Given the description of an element on the screen output the (x, y) to click on. 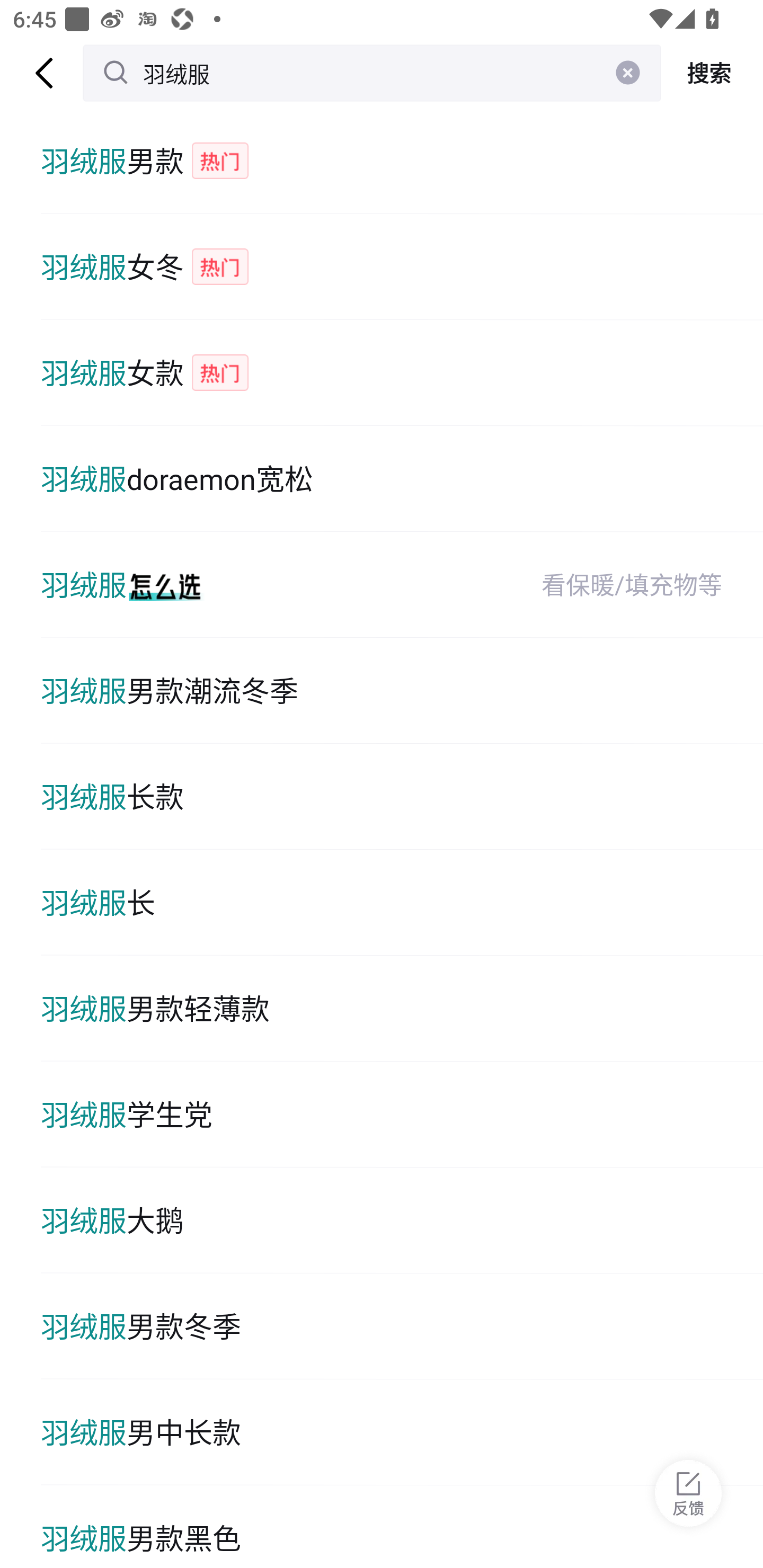
搜索 (712, 72)
羽绒服 (371, 72)
羽绒服男款 (401, 160)
羽绒服女冬 (401, 266)
羽绒服女款 (401, 372)
羽绒服doraemon宽松 (401, 478)
羽绒服 看保暖/填充物等 (401, 584)
羽绒服男款潮流冬季 (401, 690)
羽绒服长款 (401, 796)
羽绒服长 (401, 901)
羽绒服男款轻薄款 (401, 1007)
羽绒服学生党 (401, 1114)
羽绒服大鹅 (401, 1220)
羽绒服男款冬季 (401, 1326)
羽绒服男中长款 (401, 1431)
羽绒服男款黑色 (401, 1526)
